Given the description of an element on the screen output the (x, y) to click on. 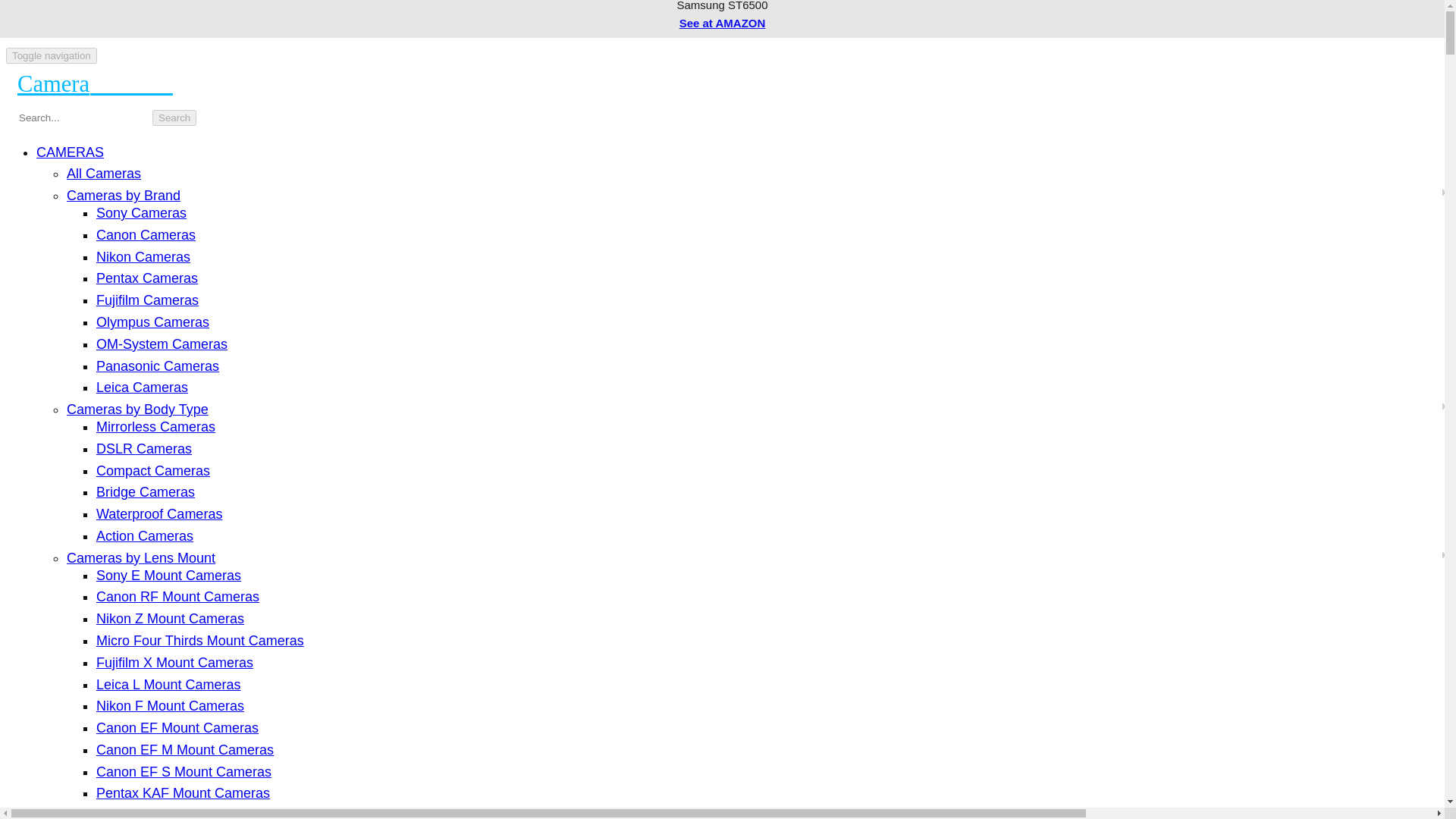
Olympus Cameras (152, 322)
Nikon Z Mount Cameras (170, 618)
Micro Four Thirds Mount Cameras (200, 640)
OM-System Cameras (161, 344)
Sony Alpha Mount Cameras (181, 813)
Bridge Cameras (145, 491)
Canon RF Mount Cameras (177, 596)
Pentax KAF Mount Cameras (182, 792)
Mirrorless Cameras (155, 426)
Nikon Cameras (143, 256)
